Given the description of an element on the screen output the (x, y) to click on. 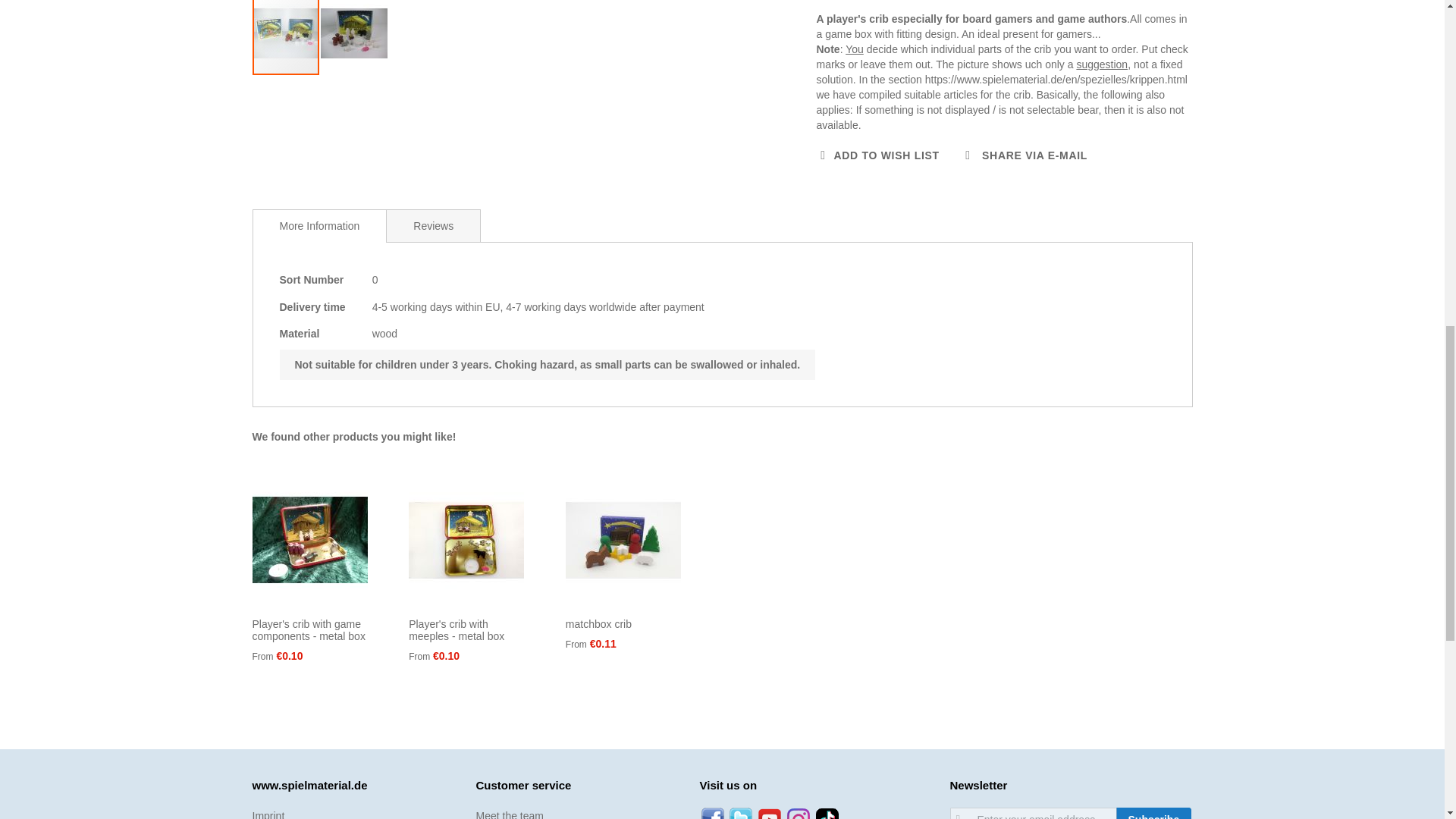
matchbox crib (598, 623)
Instagram (798, 813)
Player's crib with meeples - metal box (456, 630)
Player's crib with game components - metal box (308, 630)
Subscribe (1154, 813)
YouTube (769, 813)
Facebook (711, 813)
Twitter (740, 813)
Tiktok (826, 813)
